Given the description of an element on the screen output the (x, y) to click on. 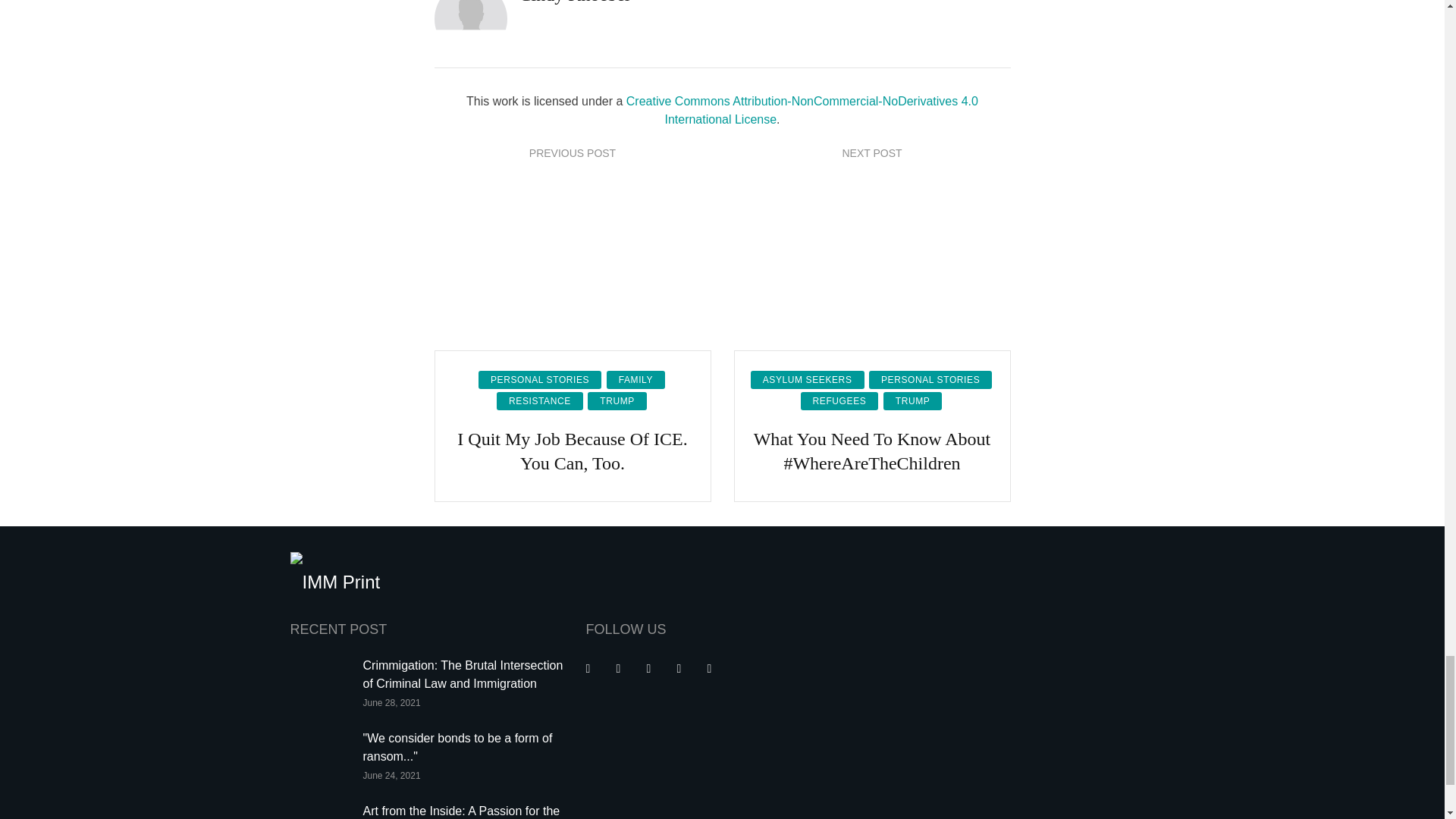
REFUGEES (839, 401)
NEXT POST (871, 152)
PERSONAL STORIES (930, 380)
Cindy Knoebel (573, 2)
PREVIOUS POST (572, 152)
I Quit My Job Because Of ICE. You Can, Too. (572, 450)
TRUMP (912, 401)
ASYLUM SEEKERS (807, 380)
June 28, 2021 (391, 702)
FAMILY (636, 380)
RESISTANCE (539, 401)
TRUMP (617, 401)
PERSONAL STORIES (540, 380)
